Given the description of an element on the screen output the (x, y) to click on. 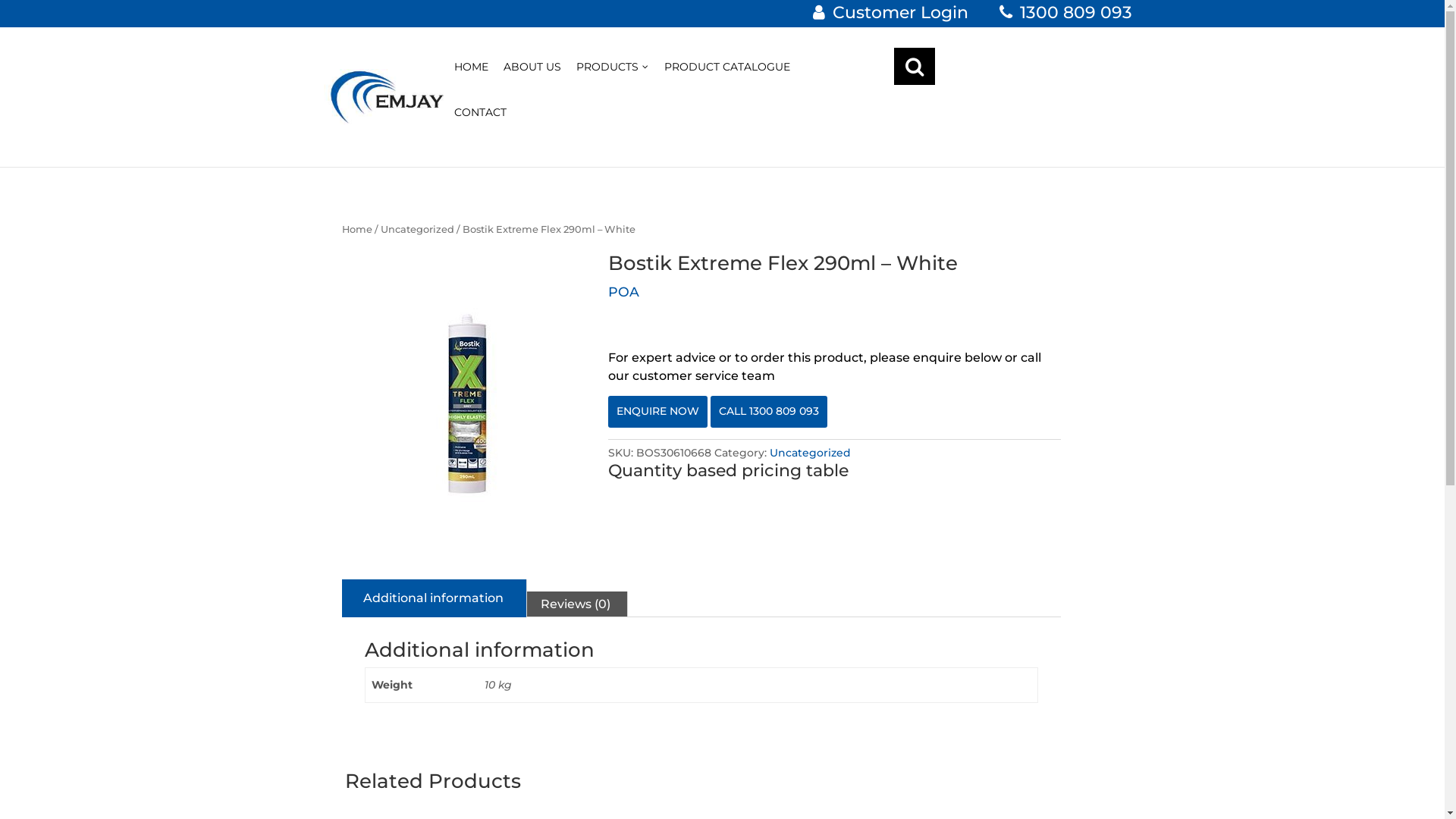
Customer Login Element type: text (890, 12)
HOME Element type: text (470, 76)
CONTACT Element type: text (479, 121)
bos extreme Element type: hover (467, 404)
1300 809 093 Element type: text (1065, 12)
CALL 1300 809 093 Element type: text (768, 411)
ENQUIRE NOW Element type: text (657, 411)
Reviews (0) Element type: text (575, 604)
PRODUCT CATALOGUE Element type: text (726, 76)
PRODUCTS Element type: text (612, 76)
Uncategorized Element type: text (417, 229)
Uncategorized Element type: text (809, 452)
Home Element type: text (357, 229)
Additional information Element type: text (433, 598)
ABOUT US Element type: text (531, 76)
